Given the description of an element on the screen output the (x, y) to click on. 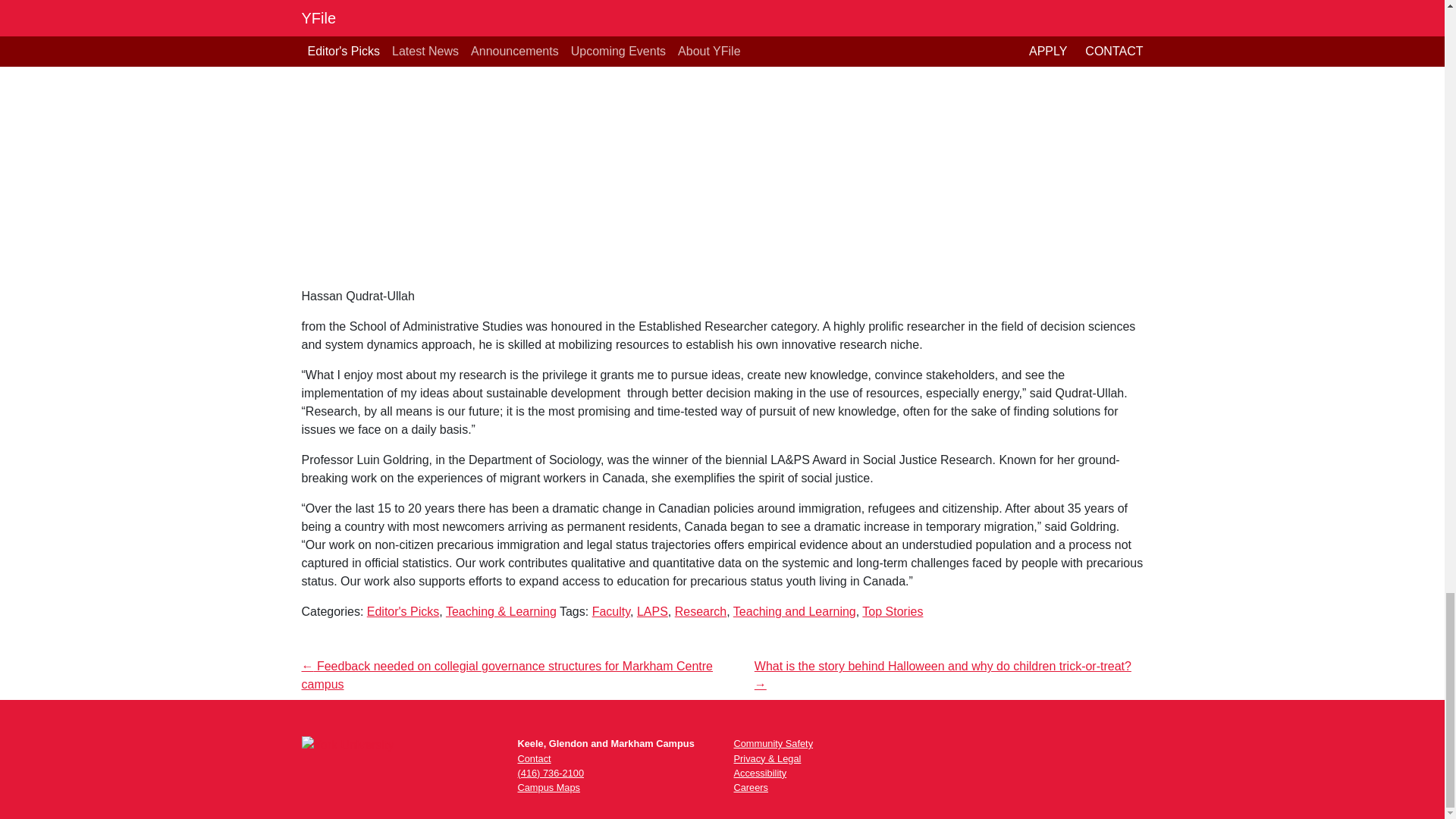
Top Stories (892, 611)
Contact (533, 758)
Accessibility (760, 772)
Community Safety (773, 743)
Careers (750, 787)
Teaching and Learning (794, 611)
Research (700, 611)
Editor's Picks (402, 611)
Faculty (611, 611)
LAPS (652, 611)
